Given the description of an element on the screen output the (x, y) to click on. 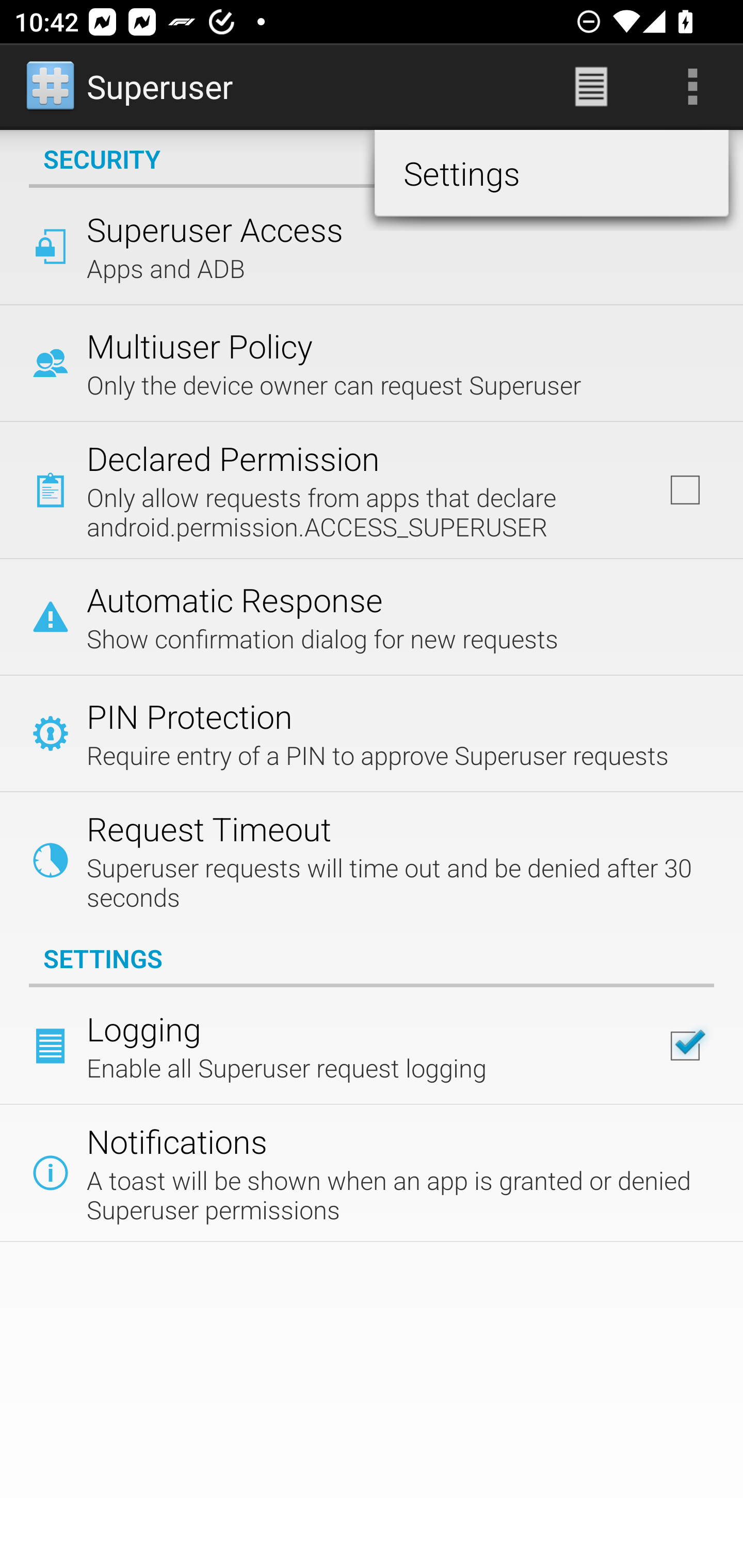
Settings (551, 173)
